Given the description of an element on the screen output the (x, y) to click on. 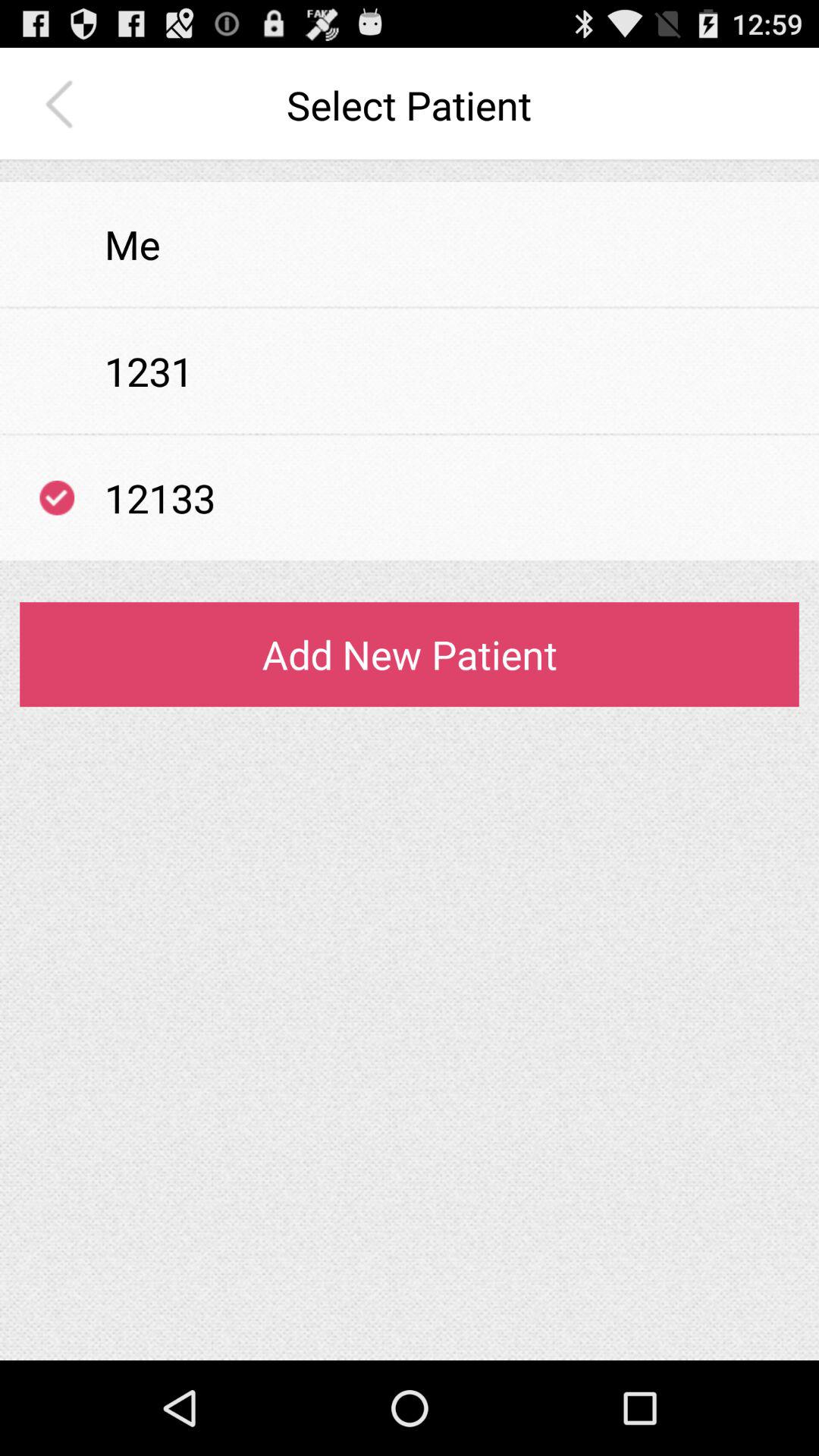
choose the icon above the 12133 (409, 434)
